Given the description of an element on the screen output the (x, y) to click on. 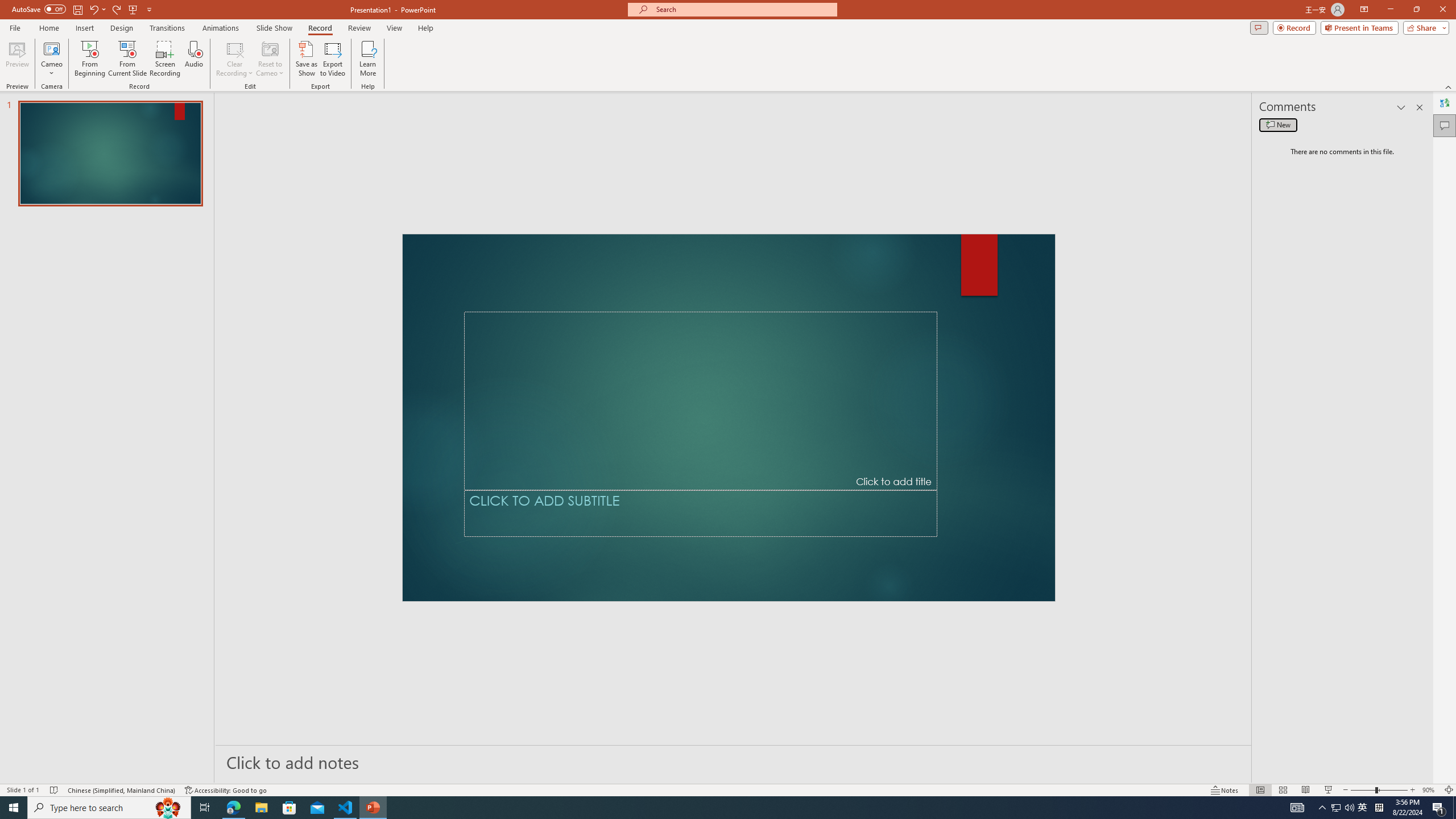
From Beginning... (89, 58)
Subtitle TextBox (700, 513)
From Current Slide... (127, 58)
Save as Show (306, 58)
